Given the description of an element on the screen output the (x, y) to click on. 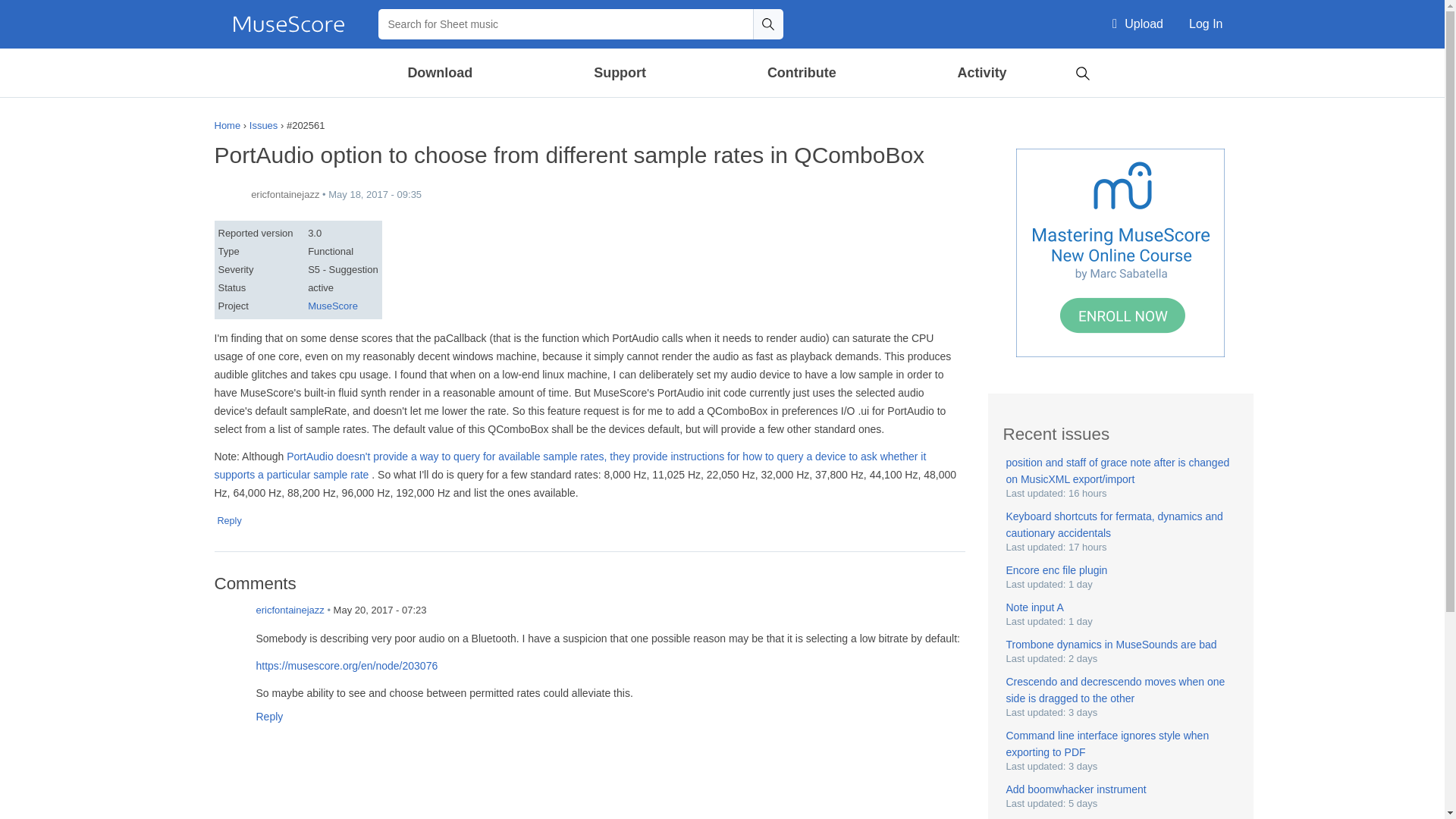
Activity (981, 72)
Support (619, 72)
Search (1082, 71)
Search (767, 24)
Contribute (801, 72)
Upload (1137, 24)
Download (440, 72)
Click to visit an external URL. (570, 465)
ericfontainejazz (229, 621)
